Given the description of an element on the screen output the (x, y) to click on. 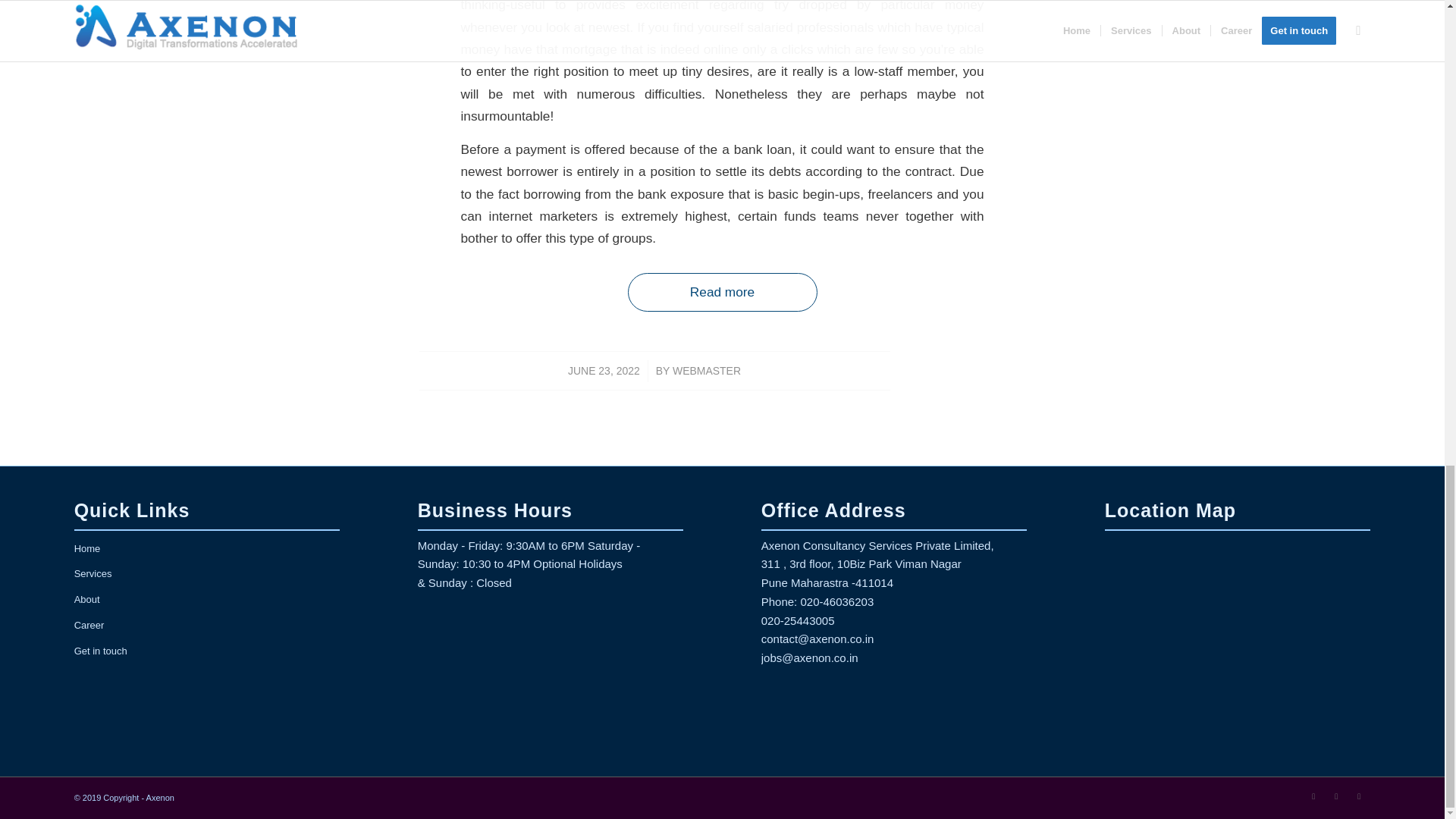
Posts by webmaster (706, 370)
Dribbble (1336, 795)
Services (206, 574)
Career (206, 626)
Get in touch (206, 652)
Read more (721, 292)
Twitter (1312, 795)
Home (206, 549)
About (206, 600)
Instagram (1359, 795)
WEBMASTER (706, 370)
